Given the description of an element on the screen output the (x, y) to click on. 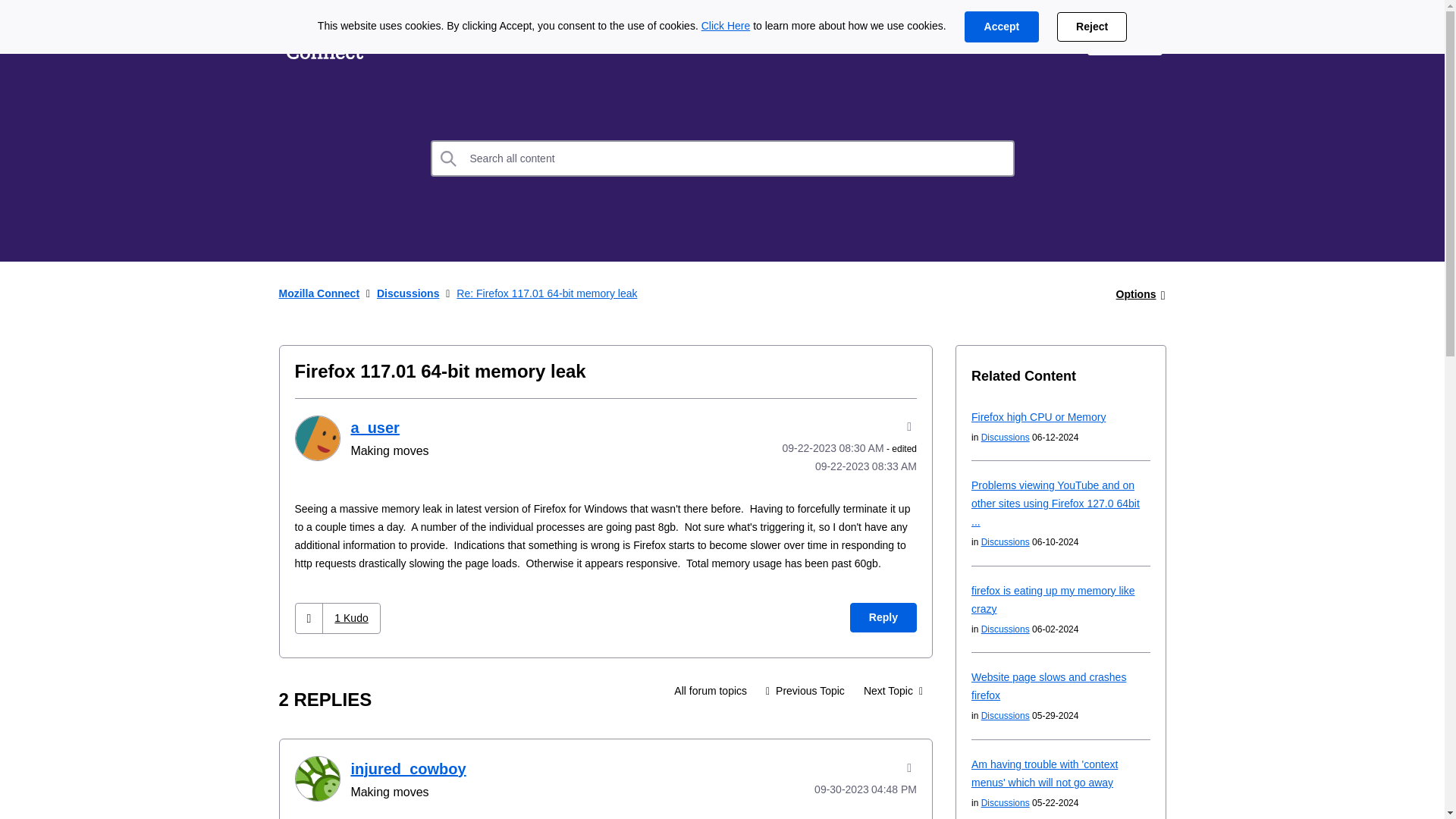
Search (722, 158)
Discussions (710, 690)
Options (1136, 294)
Sign In (1124, 39)
1 Kudo (350, 617)
Discussions (500, 39)
Click here to give kudos to this post. (309, 618)
Ideas (411, 39)
Accept (1001, 26)
Mozilla Connect (319, 293)
Search (448, 158)
Click here to see who gave kudos to this post. (350, 617)
Reject (1091, 26)
Firefox Mouse Wheel Scroll Accelerating (893, 690)
All forum topics (710, 690)
